Given the description of an element on the screen output the (x, y) to click on. 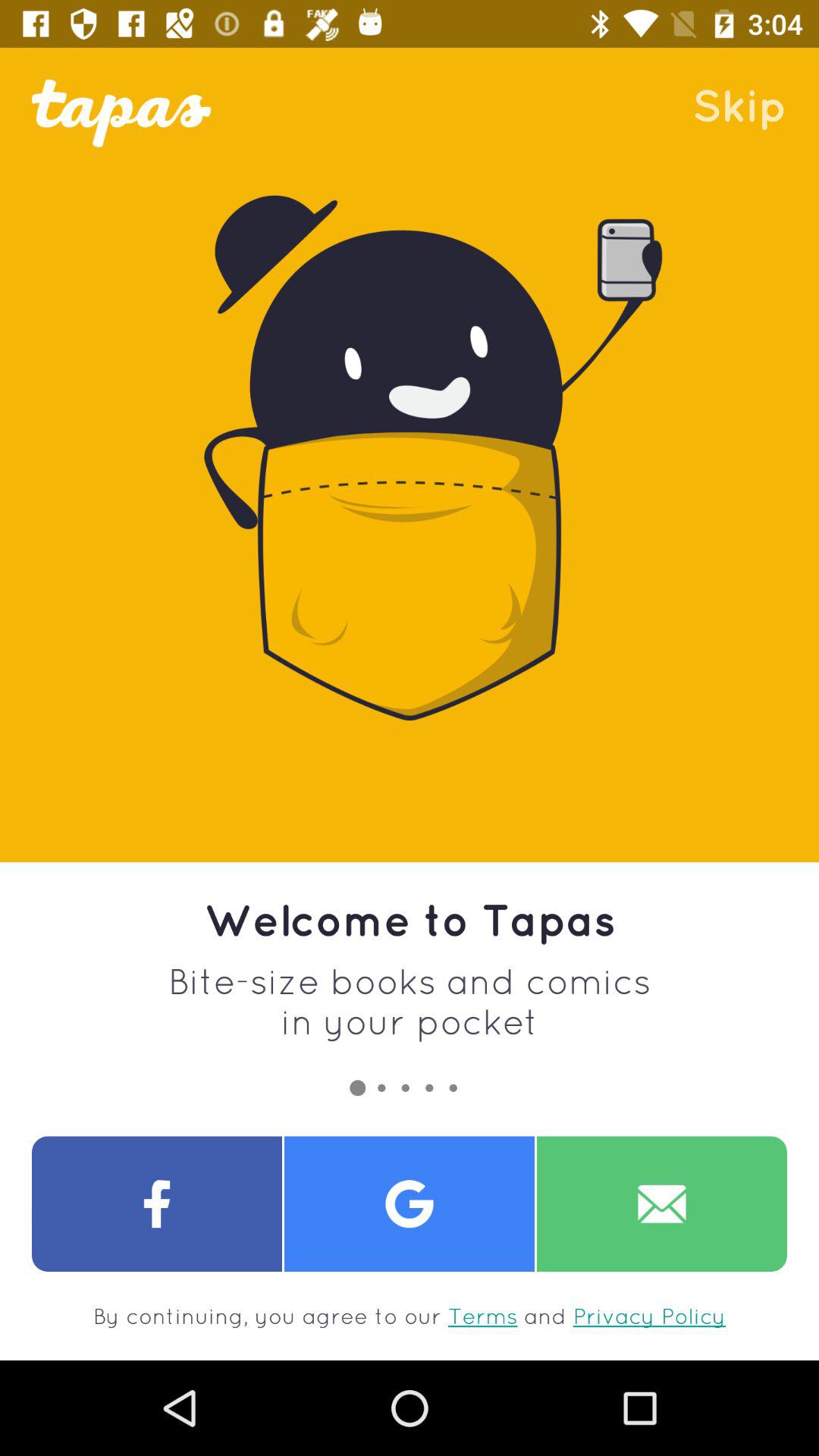
login by using email (661, 1203)
